Given the description of an element on the screen output the (x, y) to click on. 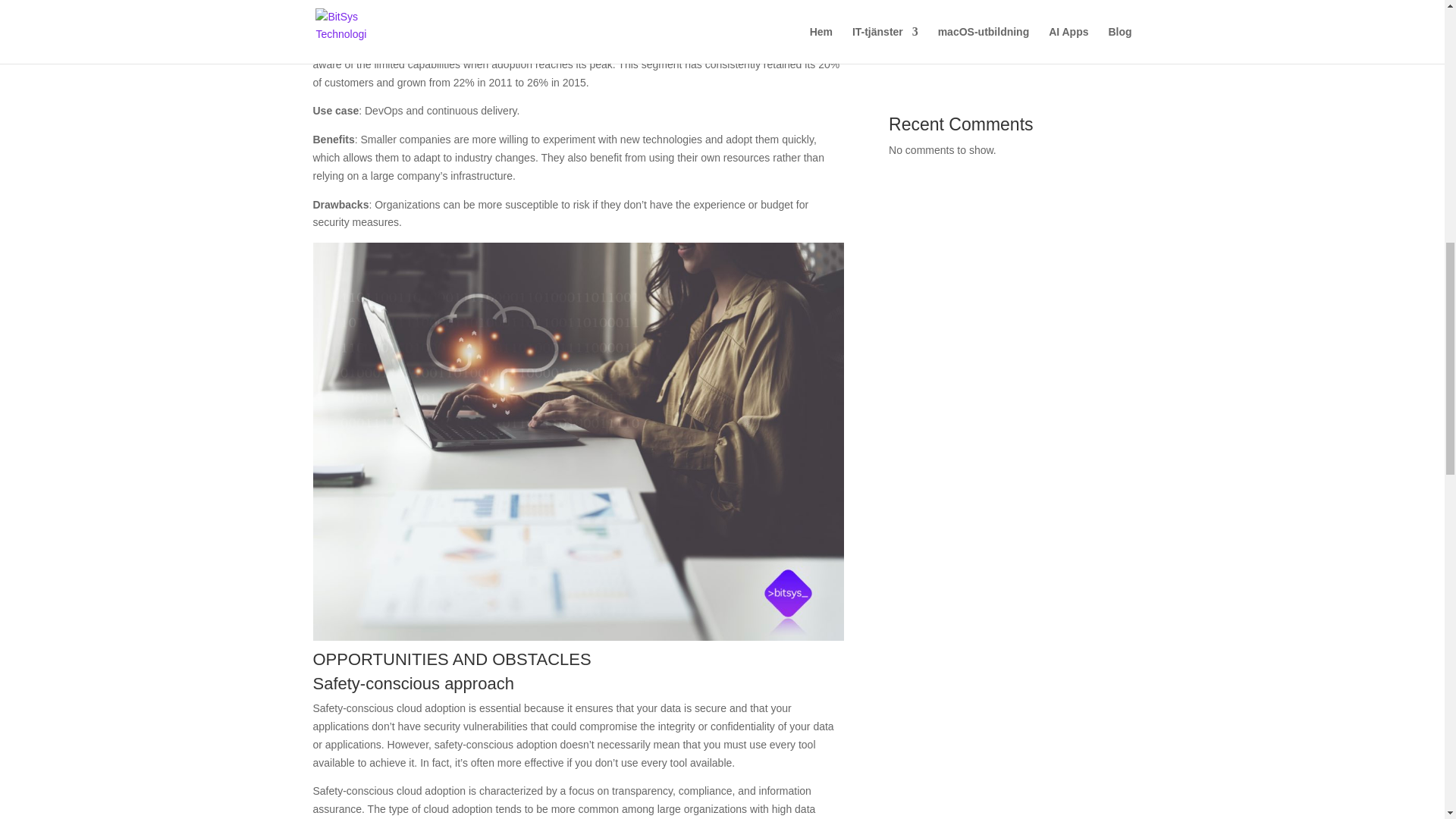
Benefits of Apple Business Managers (976, 9)
ESG as future of IT (933, 55)
Adoption of Macs in Enterprise: A Growing Trend (1003, 32)
